Given the description of an element on the screen output the (x, y) to click on. 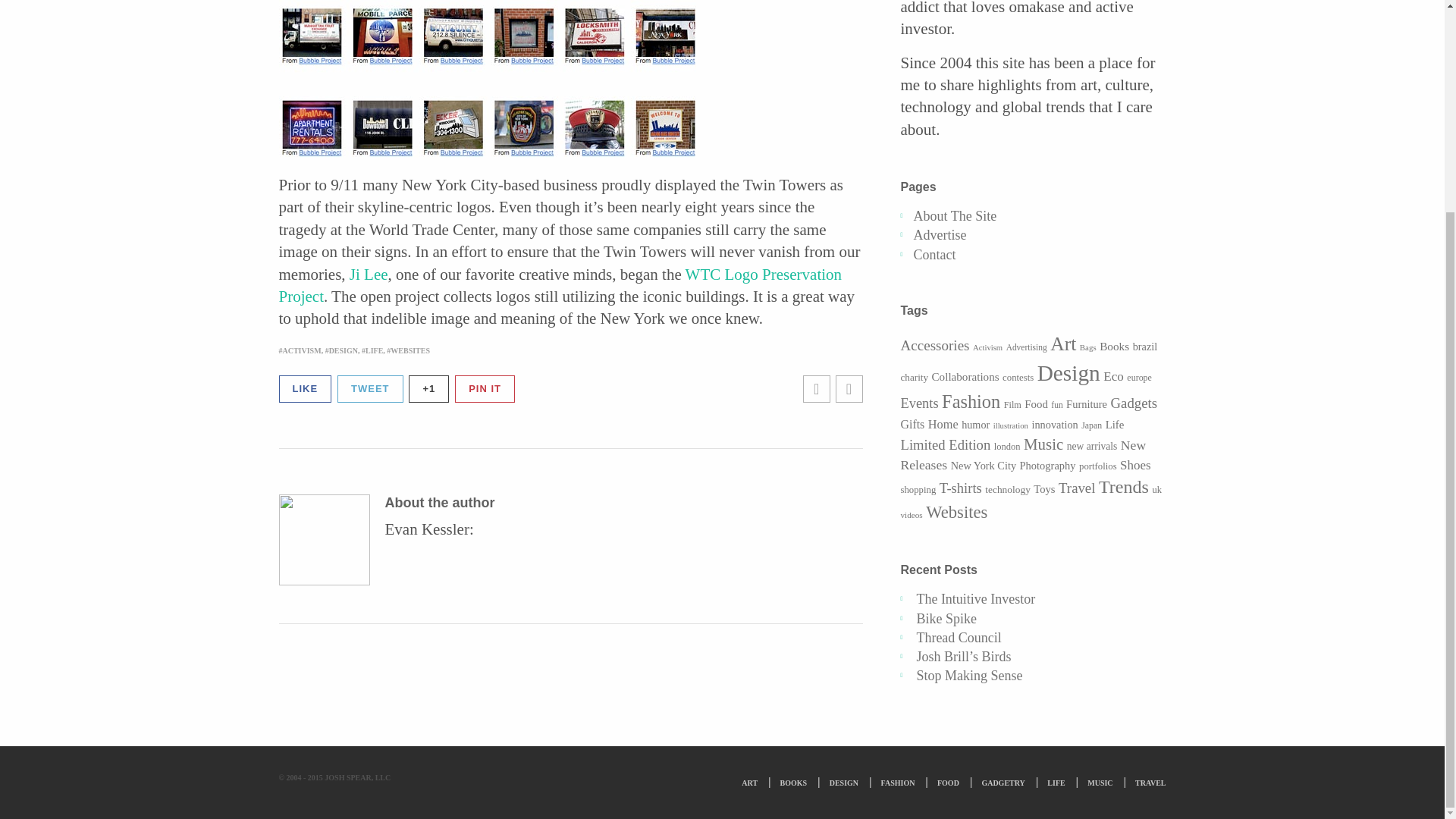
About The Site (953, 215)
LIFE (371, 350)
WTC Logo Preservation Project (561, 285)
ACTIVISM (300, 350)
103 topics (1026, 347)
Accessories (935, 344)
Books (1114, 345)
TWEET (370, 389)
Ji Lee (368, 274)
DESIGN (341, 350)
Bags (1088, 347)
91 topics (987, 347)
Art (1062, 343)
Advertising (1026, 347)
contests (1018, 377)
